Given the description of an element on the screen output the (x, y) to click on. 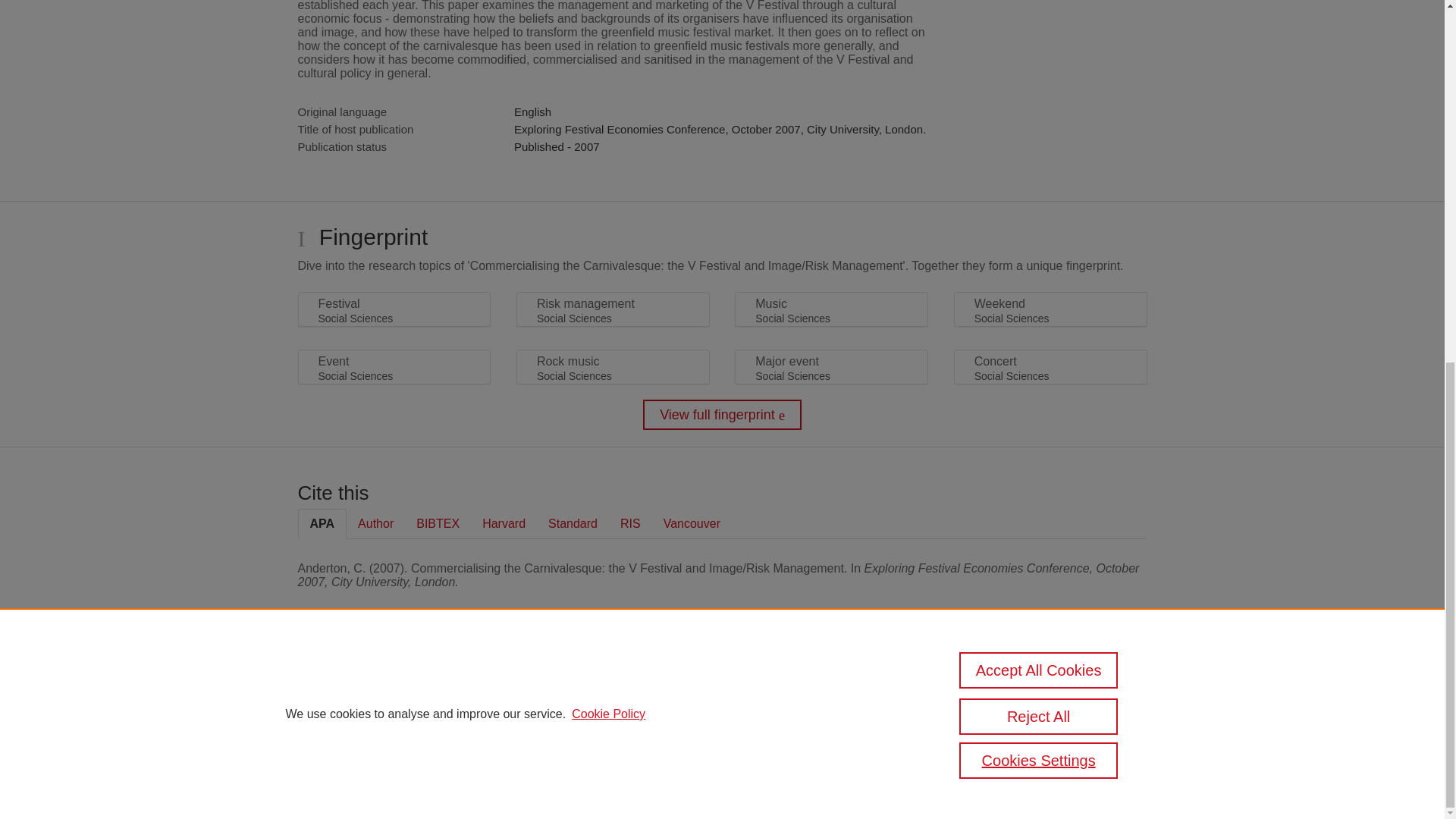
Accept All Cookies (1038, 22)
Solent University data protection policy (1008, 693)
Cookies Settings (334, 761)
Report vulnerability (1002, 740)
Reject All (1038, 69)
Cookie Policy (608, 66)
About web accessibility (1011, 719)
Log in to Pure (327, 781)
use of cookies (796, 740)
Cookies Settings (1038, 113)
